Given the description of an element on the screen output the (x, y) to click on. 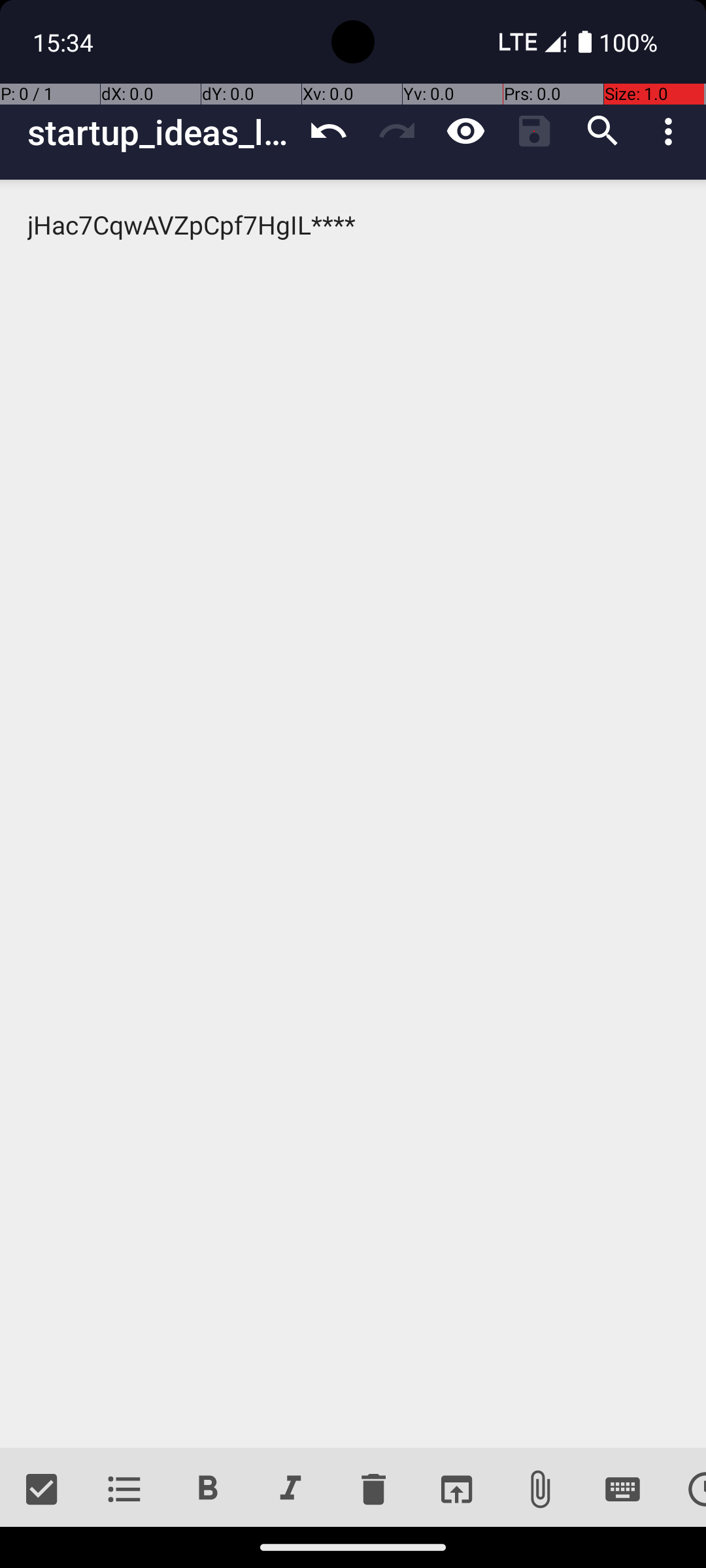
startup_ideas_launch_dqJ3 Element type: android.widget.TextView (160, 131)
jHac7CqwAVZpCpf7HgIL**** Element type: android.widget.EditText (353, 813)
